Given the description of an element on the screen output the (x, y) to click on. 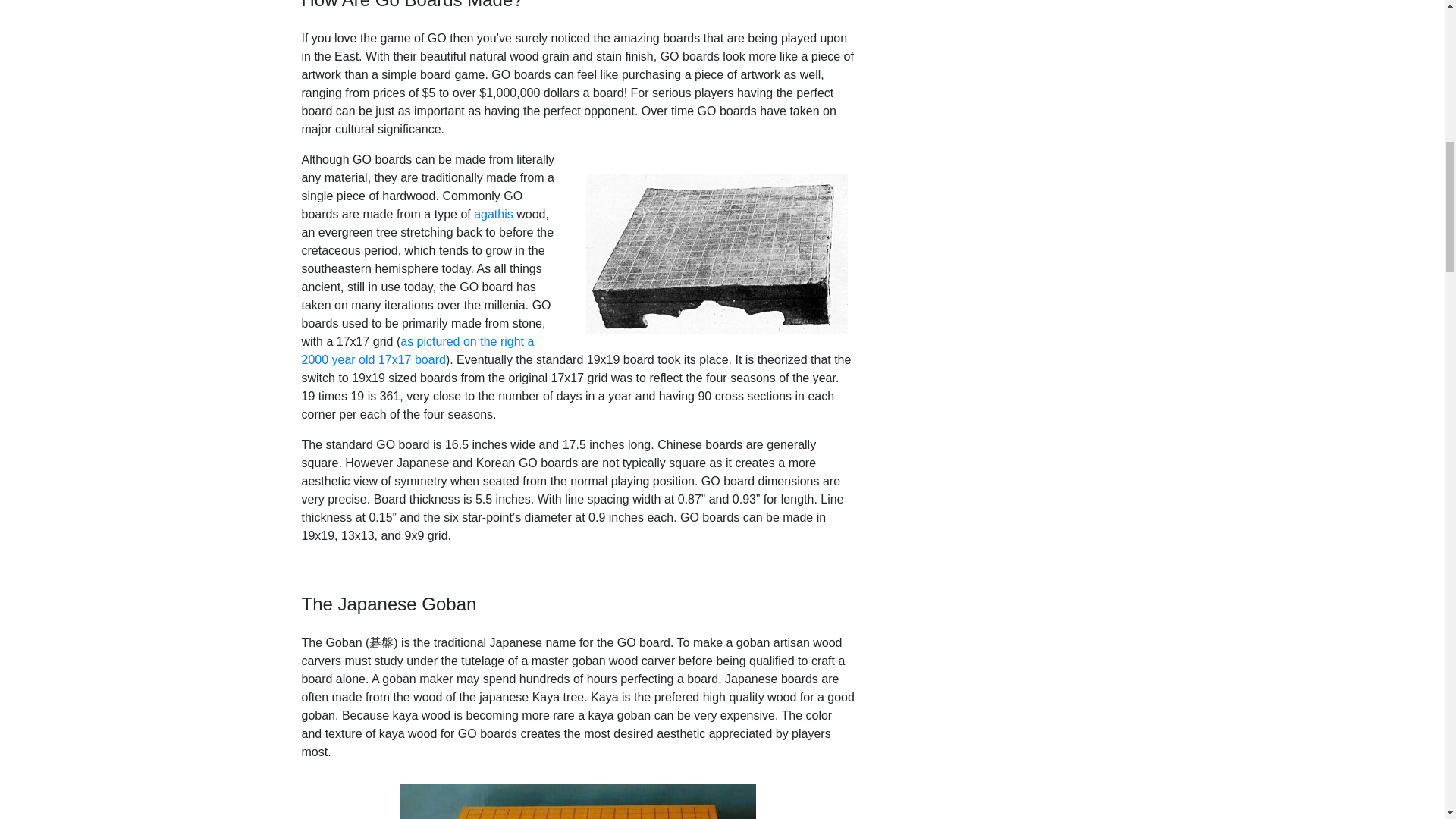
agathis (493, 214)
as pictured on the right a 2000 year old 17x17 board (417, 350)
